Given the description of an element on the screen output the (x, y) to click on. 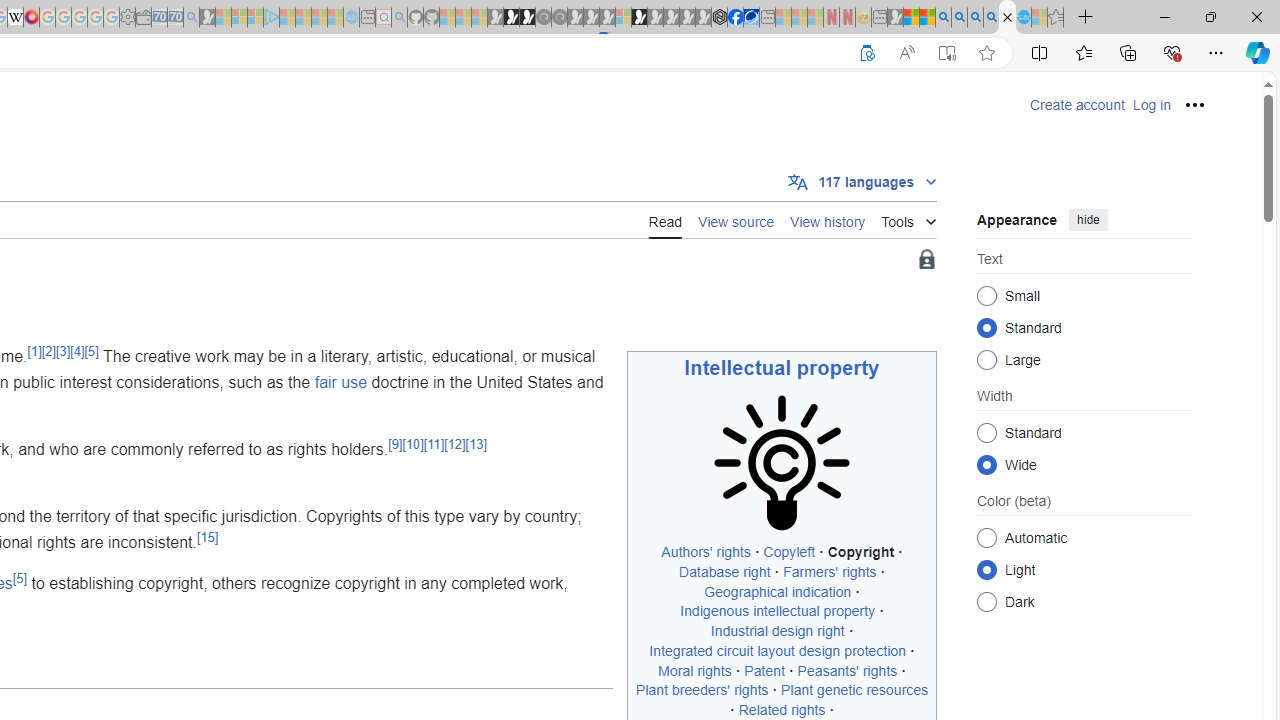
[13] (475, 444)
View history (827, 219)
Tools (908, 218)
Copyright - Wikipedia (1007, 17)
[4] (77, 350)
Database right (724, 572)
Page semi-protected (926, 259)
Authors' rights (706, 552)
Plant breeders' rights (701, 690)
